Given the description of an element on the screen output the (x, y) to click on. 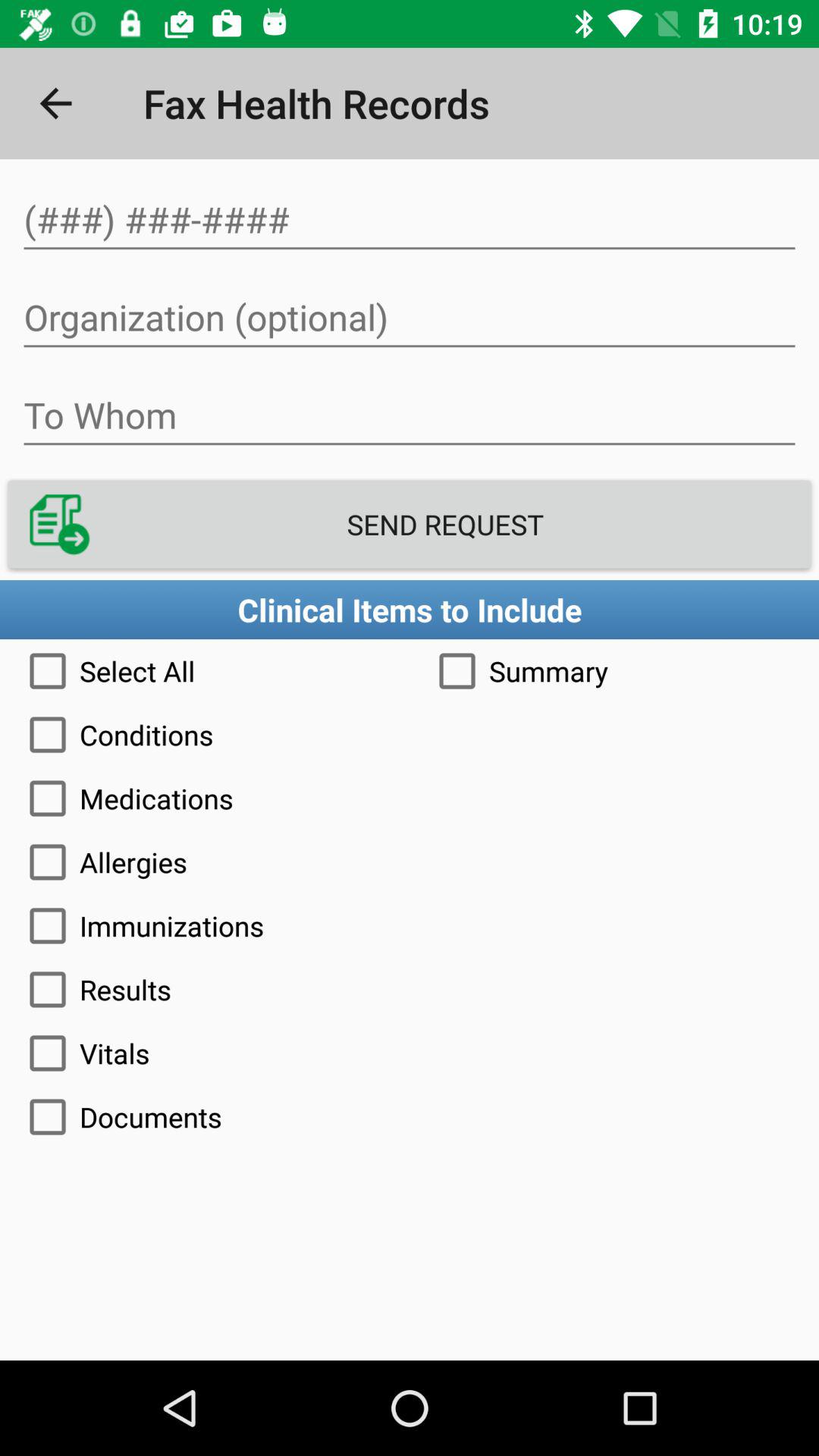
select vitals (409, 1053)
